Given the description of an element on the screen output the (x, y) to click on. 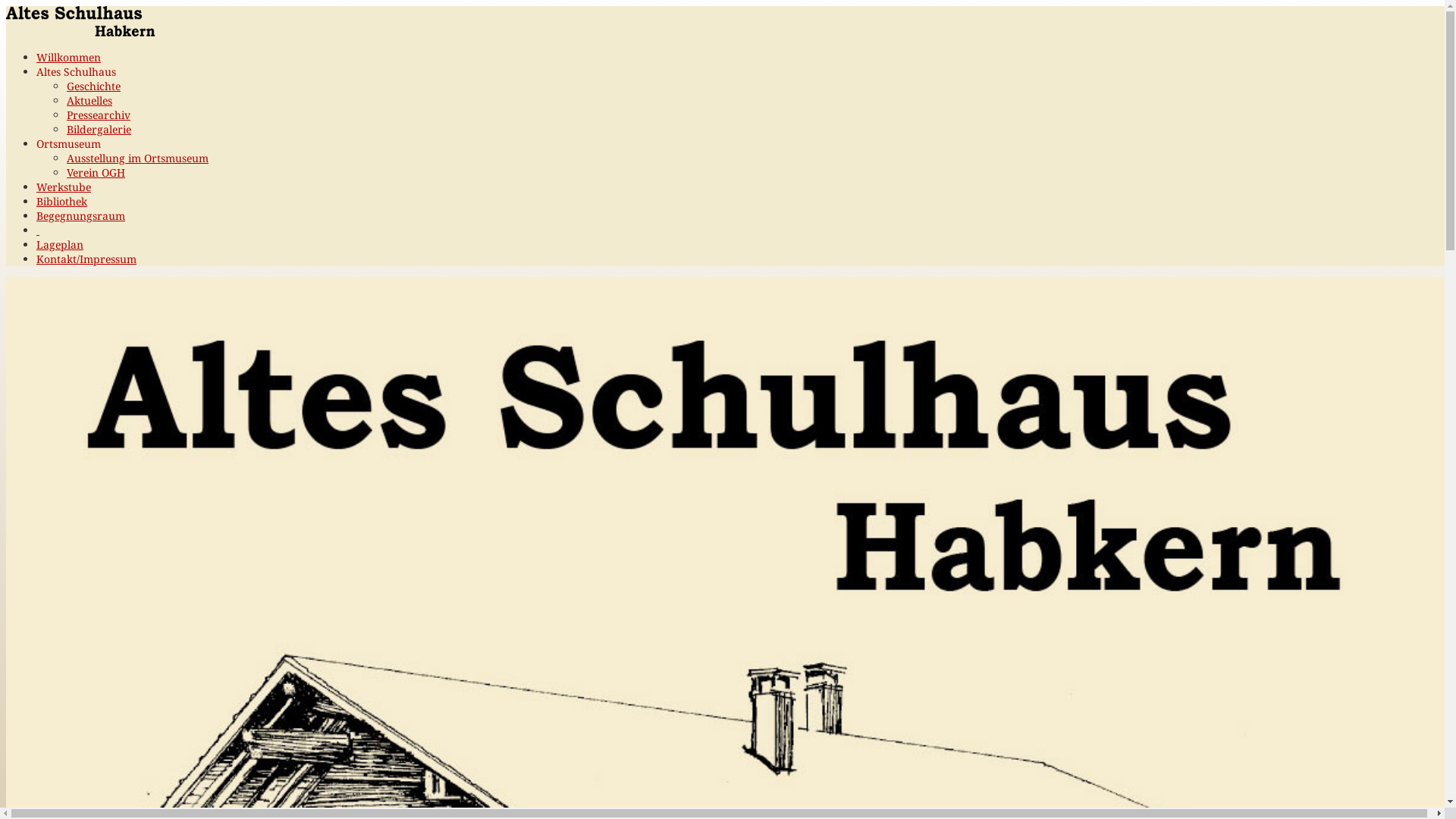
Bildergalerie Element type: text (98, 129)
Ausstellung im Ortsmuseum Element type: text (137, 157)
Kontakt/Impressum Element type: text (86, 258)
Altes Schulhaus Element type: text (76, 71)
Bibliothek Element type: text (61, 201)
Aktuelles Element type: text (89, 100)
Ortsmuseum Element type: text (68, 143)
Willkommen Element type: text (68, 57)
  Element type: text (37, 229)
Pressearchiv Element type: text (98, 114)
Lageplan Element type: text (59, 244)
Geschichte Element type: text (93, 85)
Begegnungsraum Element type: text (80, 215)
Werkstube Element type: text (63, 186)
Verein OGH Element type: text (95, 172)
